Given the description of an element on the screen output the (x, y) to click on. 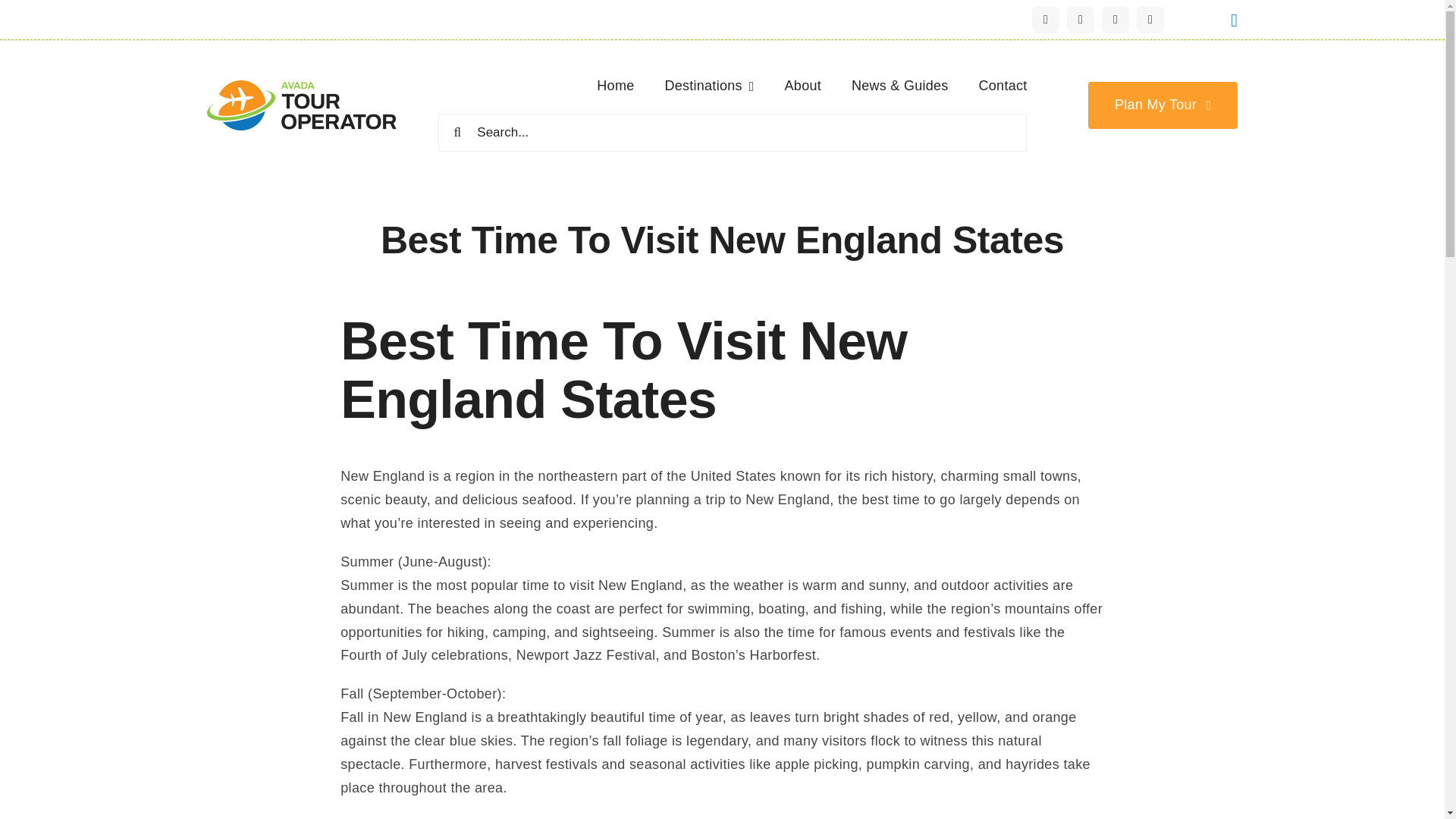
Facebook (1045, 19)
Plan My Tour (1162, 104)
Pinterest (1150, 19)
Instagram (1115, 19)
Twitter (1080, 19)
Destinations (708, 85)
